Given the description of an element on the screen output the (x, y) to click on. 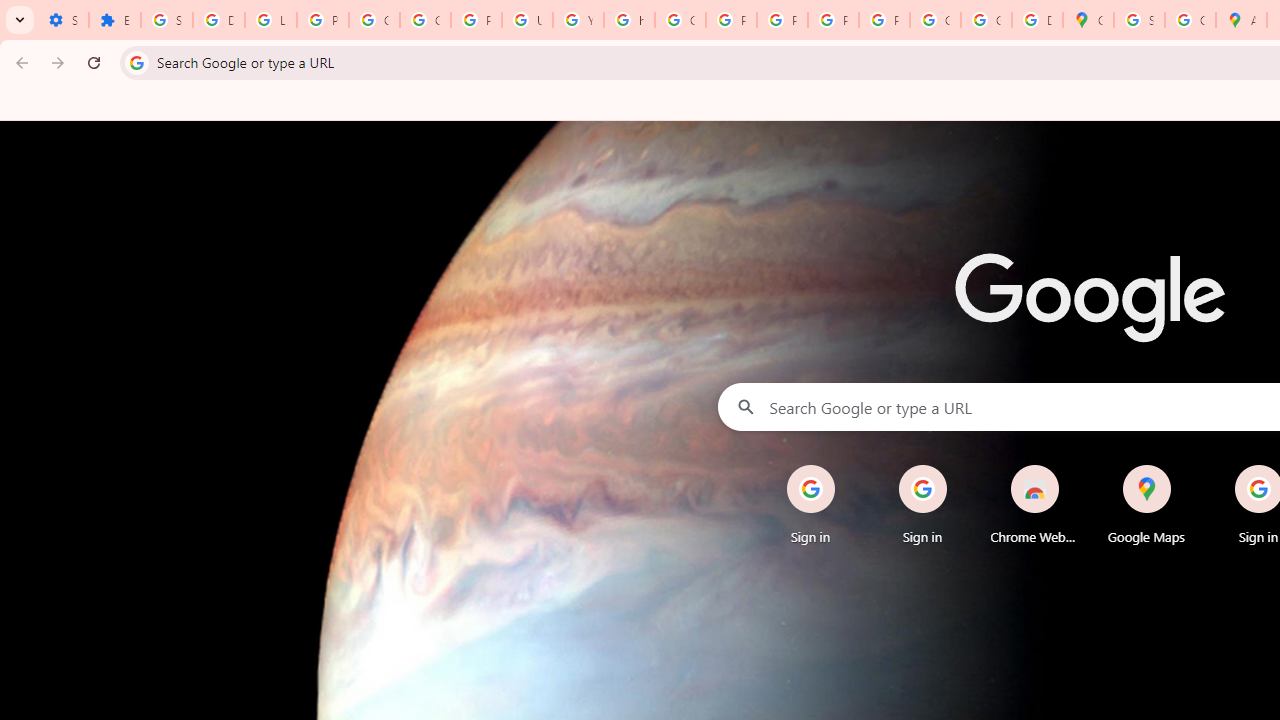
Remove (1186, 466)
Chrome Web Store (1033, 504)
Google Maps (1146, 504)
